Given the description of an element on the screen output the (x, y) to click on. 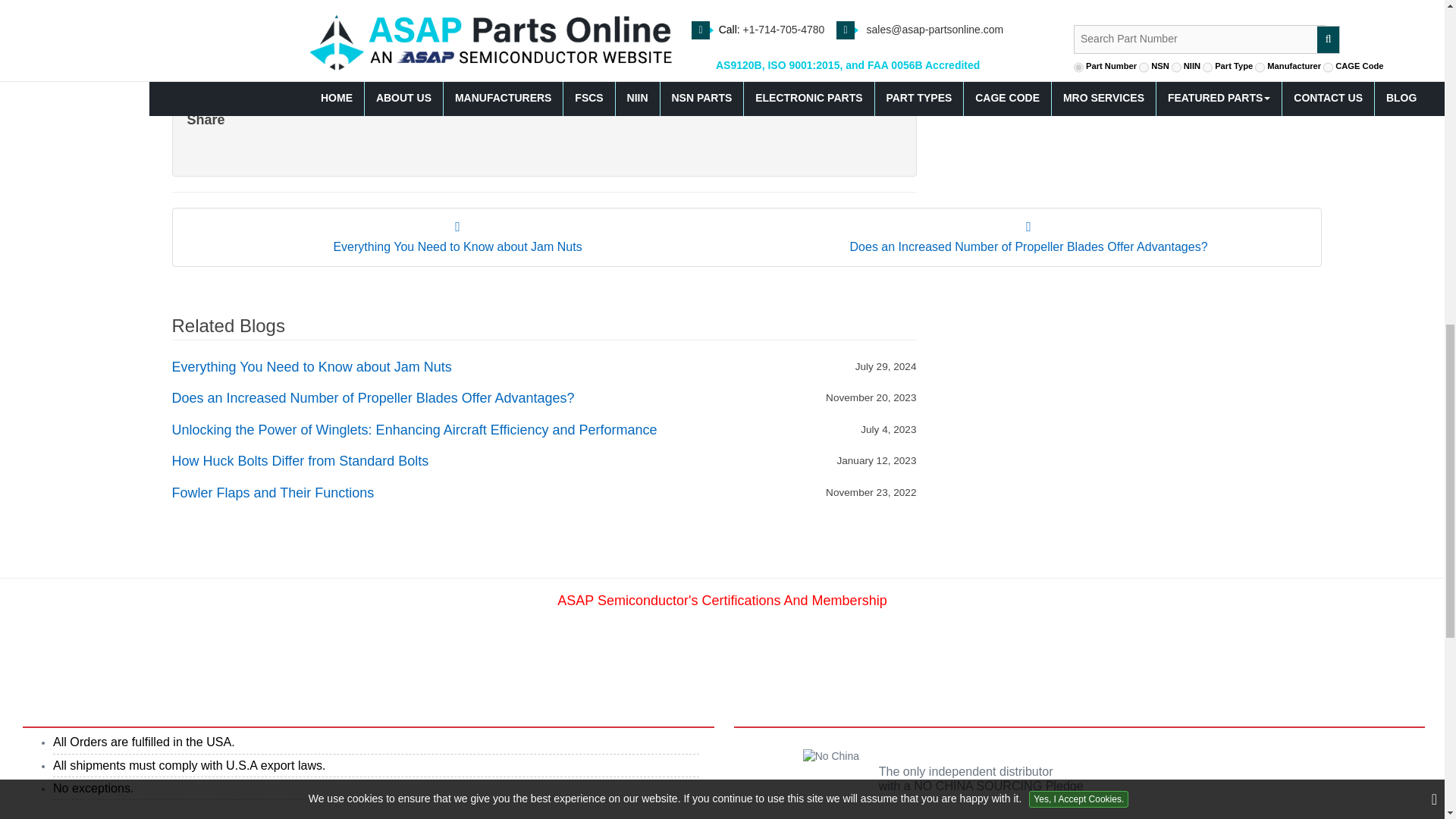
Everything You Need to Know about Jam Nuts (457, 236)
Everything You Need to Know about Jam Nuts (311, 367)
How Huck Bolts Differ from Standard Bolts (299, 461)
Fowler Flaps and Their Functions (272, 493)
Aviation (454, 55)
